Given the description of an element on the screen output the (x, y) to click on. 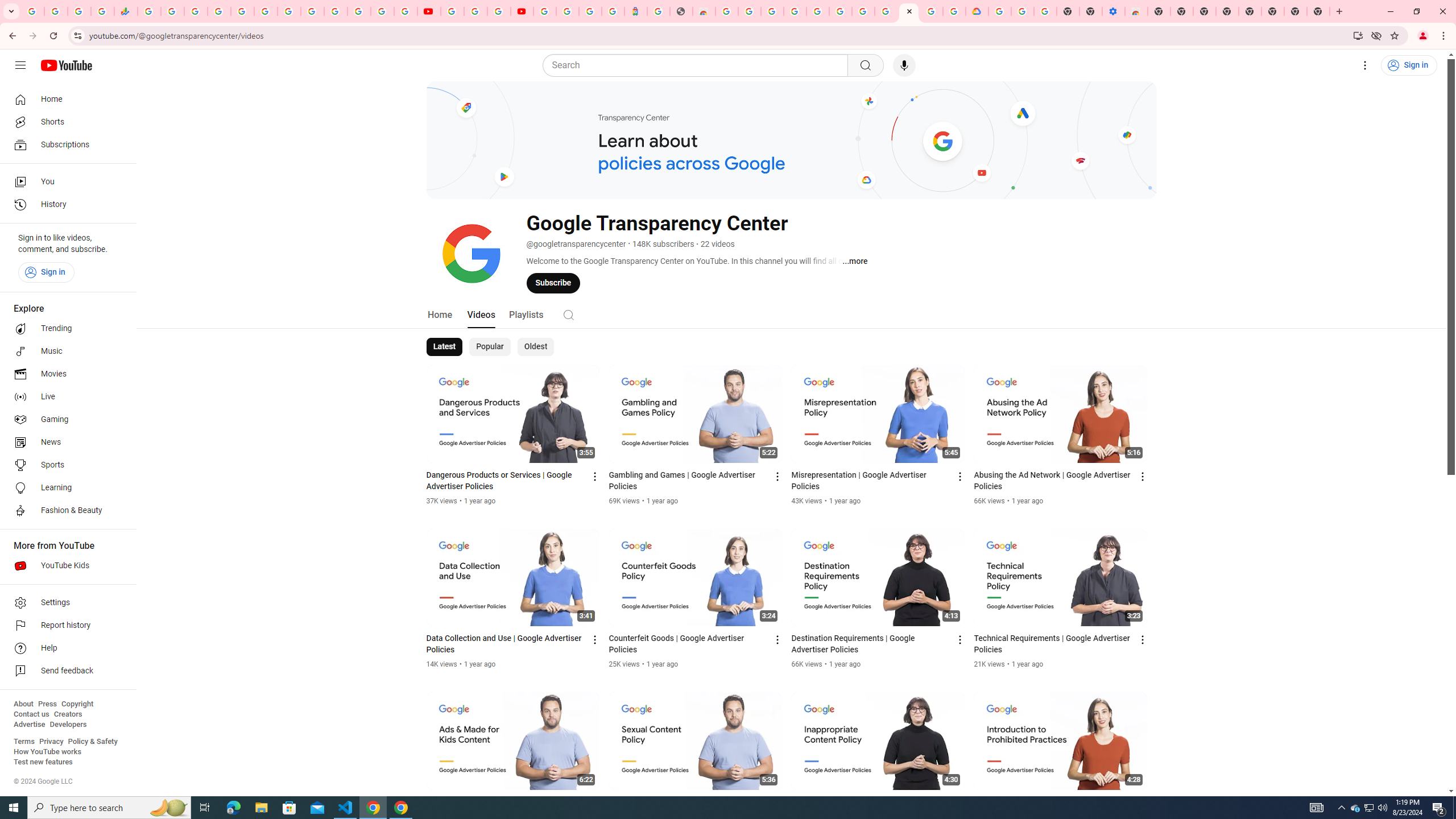
History (64, 204)
Developers (68, 724)
Google Transparency Center - YouTube (909, 11)
YouTube (312, 11)
Latest (444, 346)
Learning (64, 487)
Search (697, 65)
Oldest (534, 346)
Help (64, 648)
